Given the description of an element on the screen output the (x, y) to click on. 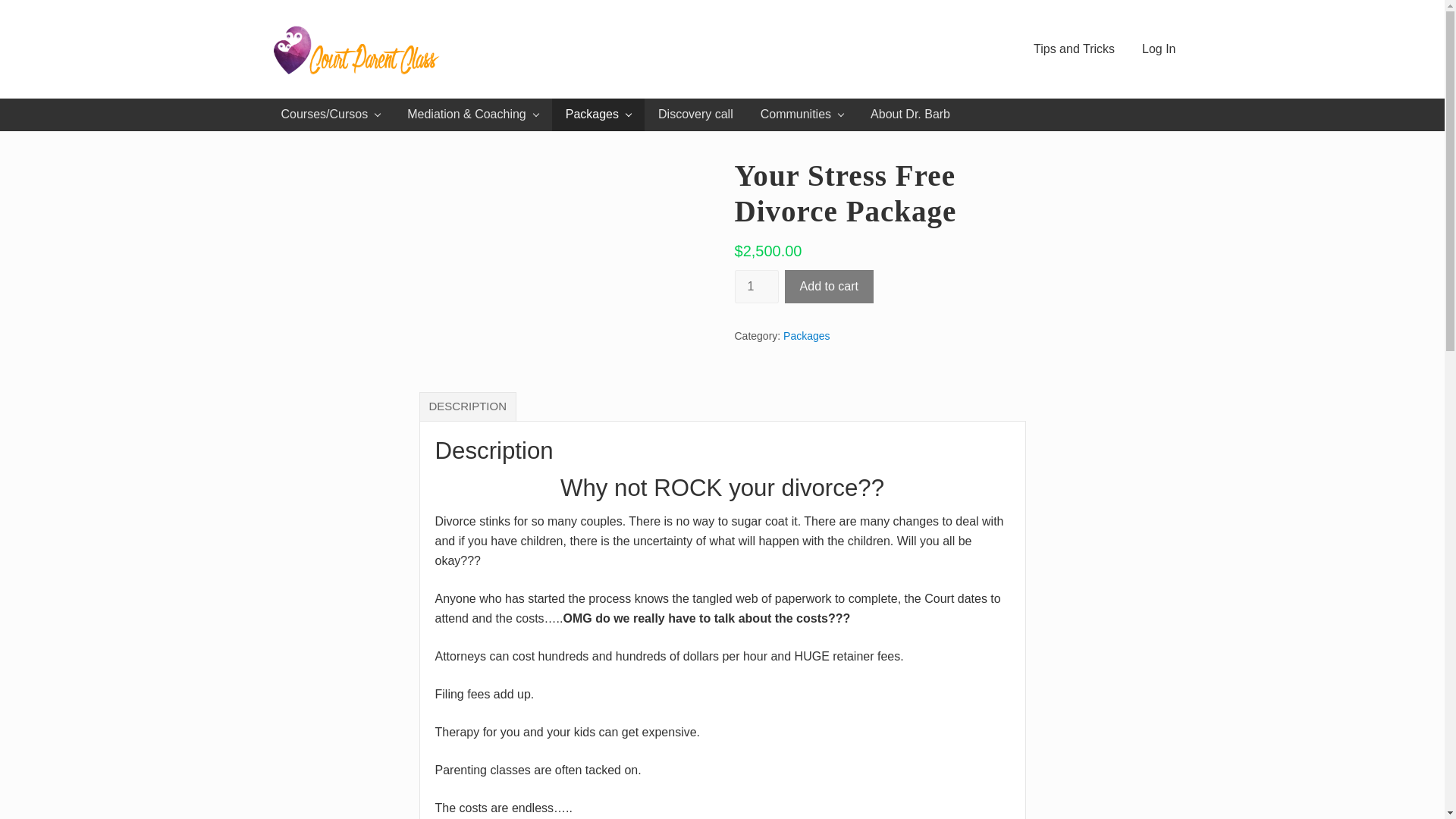
1 (755, 286)
Packages (598, 114)
Log In (1158, 48)
Tips and Tricks (1074, 48)
